Given the description of an element on the screen output the (x, y) to click on. 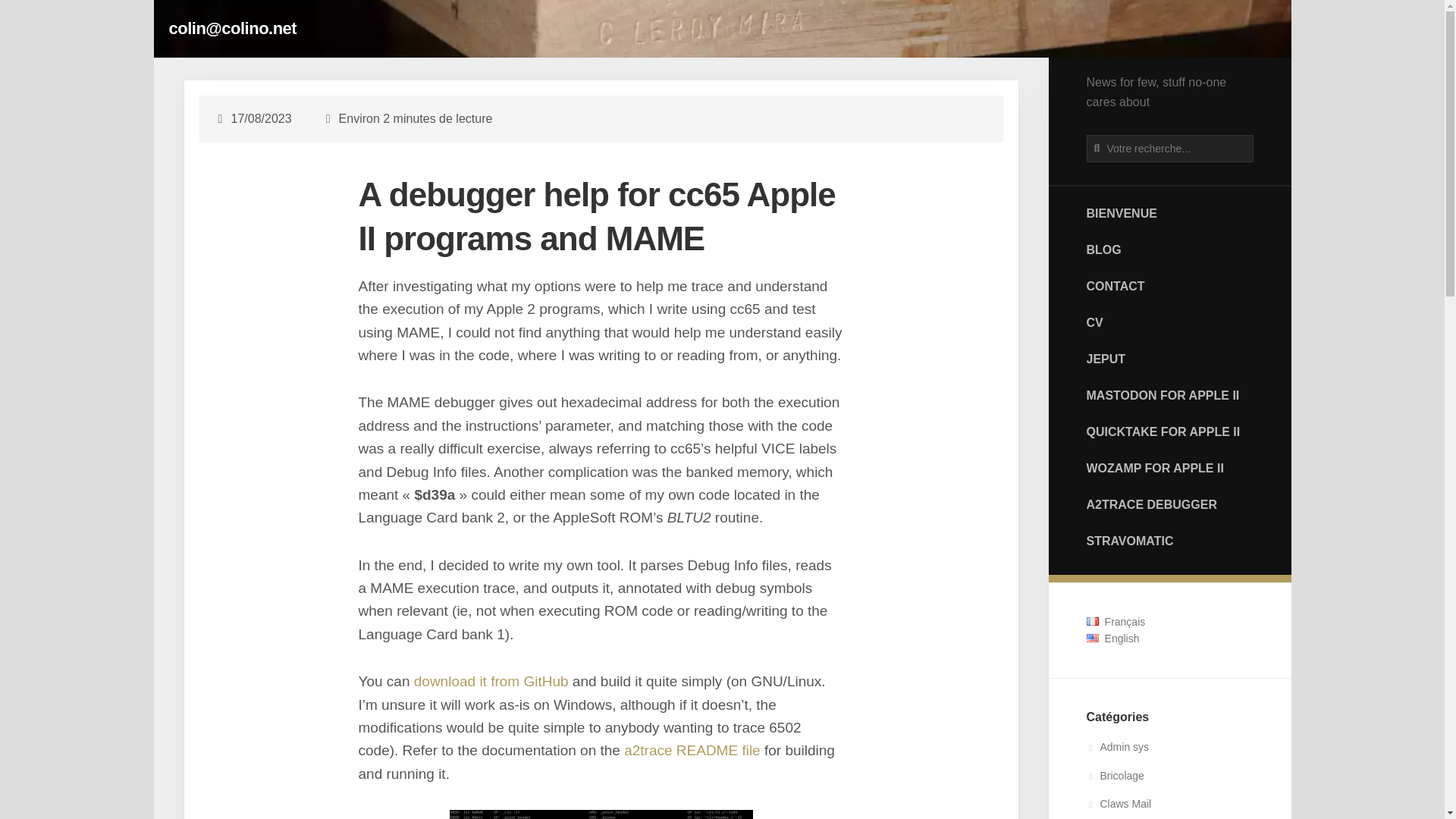
Claws Mail (1118, 803)
WOZAMP FOR APPLE II (1169, 468)
Admin sys (1117, 746)
Bricolage (1114, 775)
download it from GitHub (491, 681)
Votre recherche... (1169, 148)
QUICKTAKE FOR APPLE II (1169, 431)
JEPUT (1169, 358)
STRAVOMATIC (1169, 541)
BLOG (1169, 250)
A Mastodon client for the Apple 2 (1169, 395)
CV (1169, 322)
MASTODON FOR APPLE II (1169, 395)
English (1112, 638)
CONTACT (1169, 286)
